Given the description of an element on the screen output the (x, y) to click on. 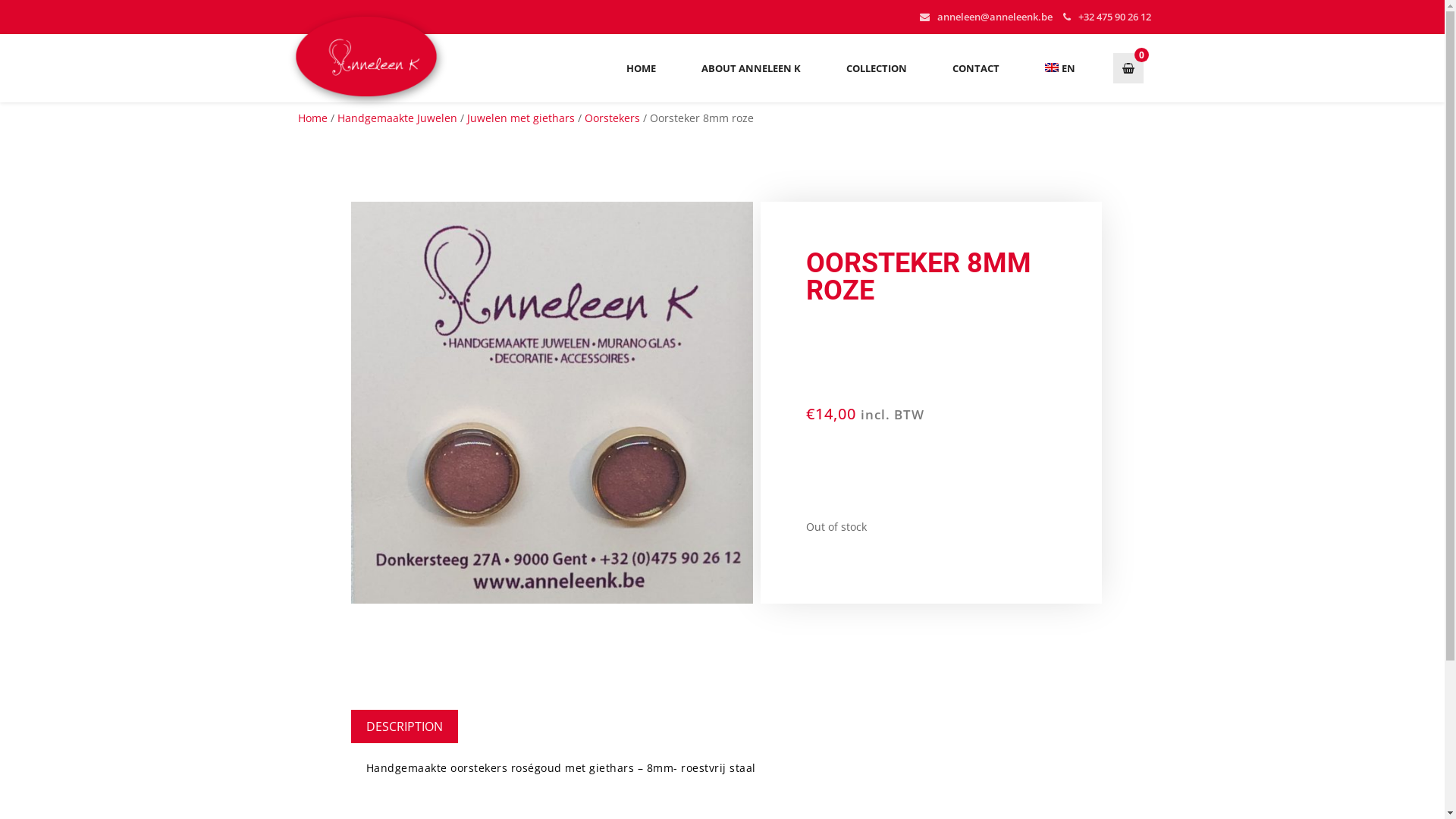
EN Element type: text (1060, 68)
Handgemaakte Juwelen Element type: text (396, 117)
HOME Element type: text (640, 68)
ABOUT ANNELEEN K Element type: text (750, 68)
Home Element type: text (311, 117)
Oorstekers Element type: text (611, 117)
anneleen@anneleenk.be Element type: text (994, 16)
COLLECTION Element type: text (876, 68)
CONTACT Element type: text (975, 68)
0 Element type: text (1128, 68)
Juwelen met giethars Element type: text (520, 117)
IMG_E0742 Element type: hover (551, 402)
DESCRIPTION Element type: text (403, 726)
